Given the description of an element on the screen output the (x, y) to click on. 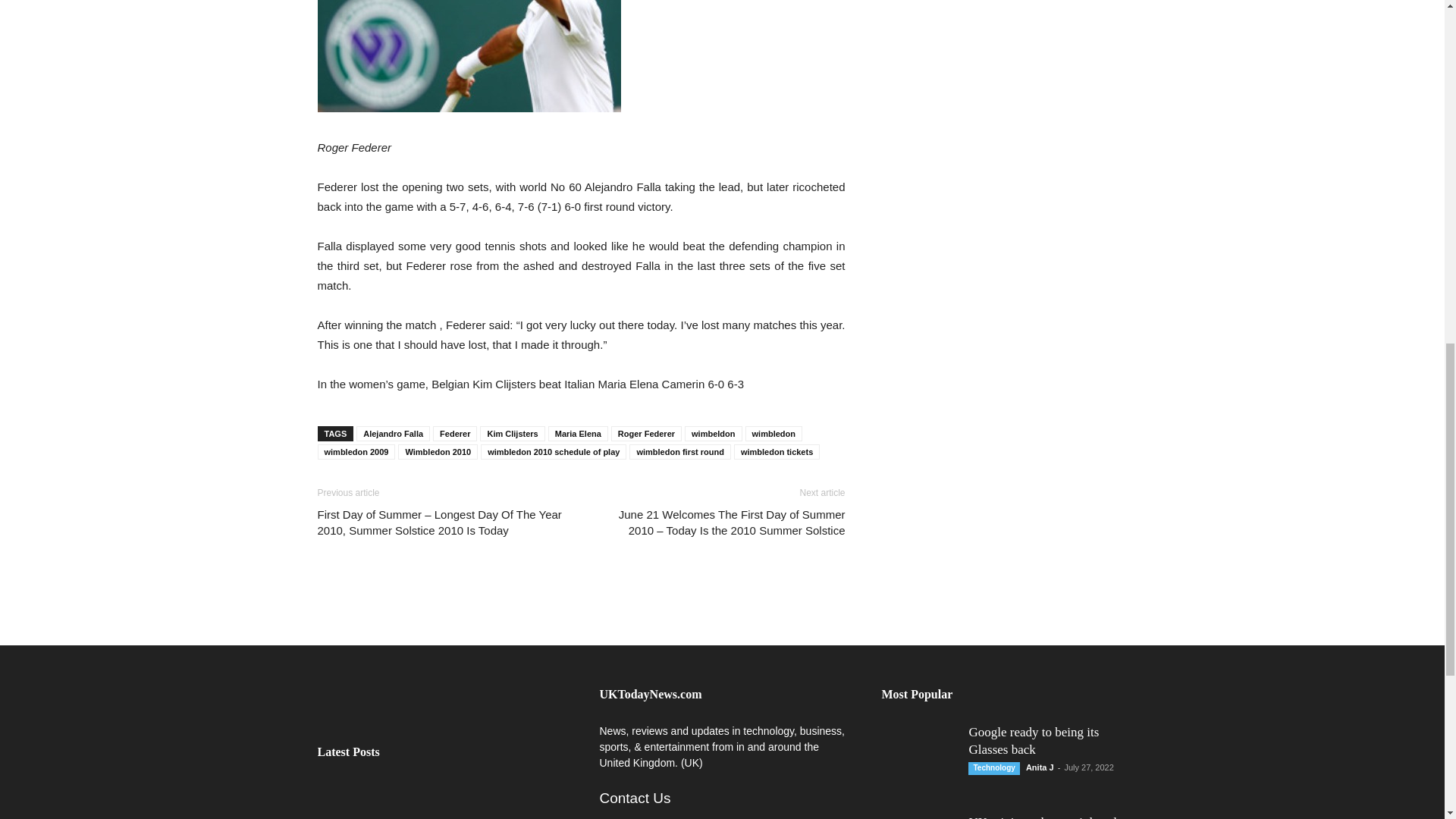
Federer (468, 56)
Google ready to being its Glasses back (505, 800)
